Given the description of an element on the screen output the (x, y) to click on. 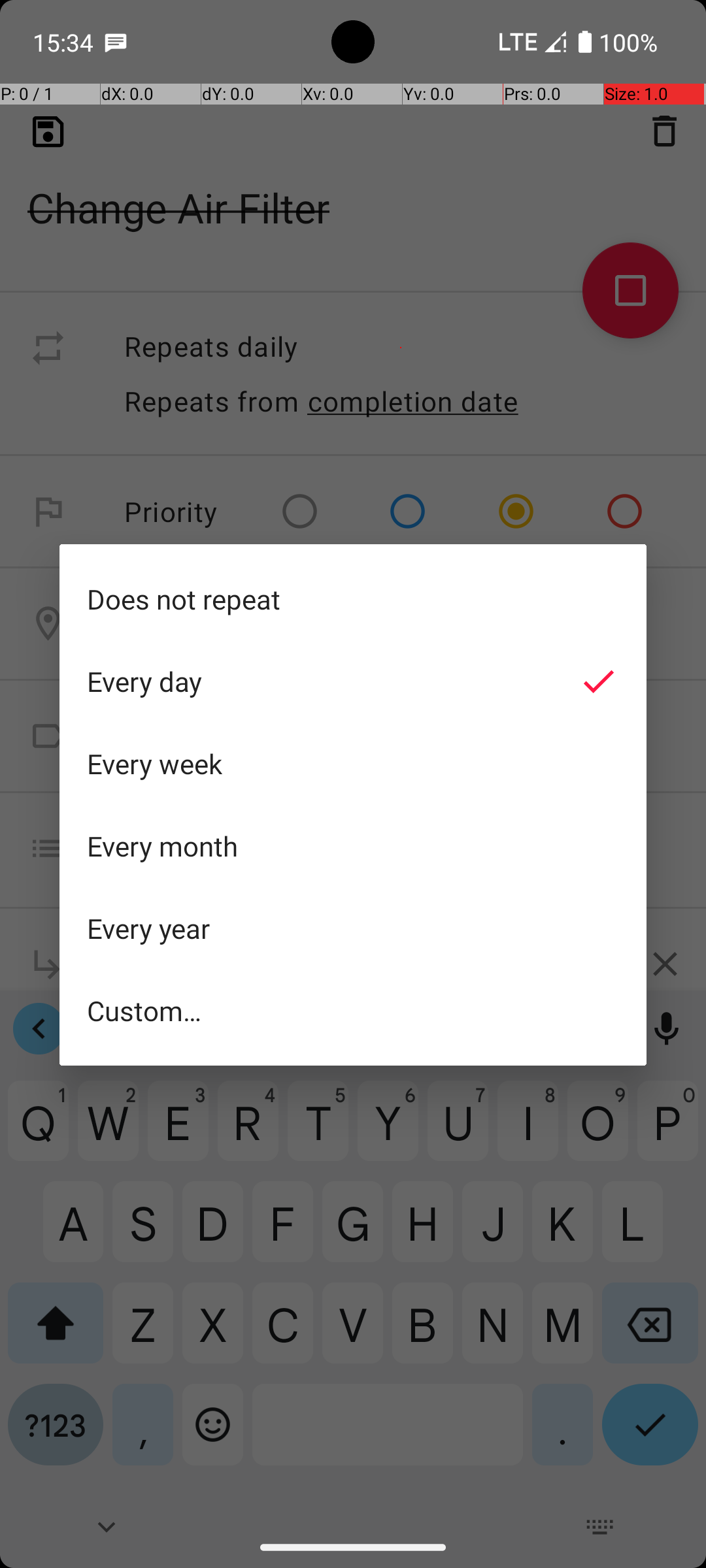
Every day Element type: android.widget.CheckedTextView (352, 681)
Every week Element type: android.widget.CheckedTextView (352, 763)
Every month Element type: android.widget.CheckedTextView (352, 845)
Every year Element type: android.widget.CheckedTextView (352, 928)
Custom… Element type: android.widget.CheckedTextView (352, 1010)
